Given the description of an element on the screen output the (x, y) to click on. 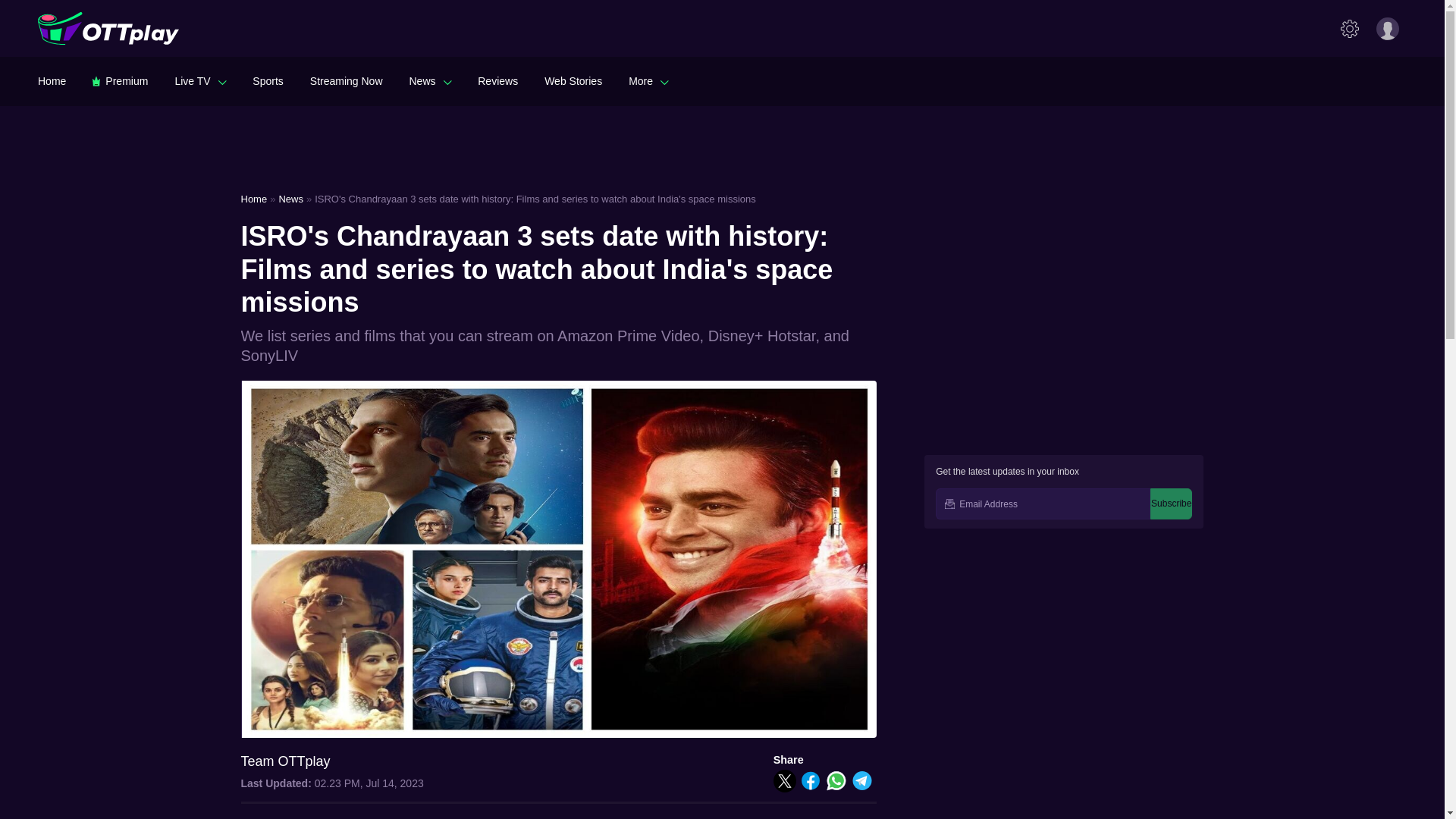
Web Stories (573, 80)
Streaming Now (346, 80)
Live TV (199, 80)
News (430, 80)
Premium (120, 80)
